Given the description of an element on the screen output the (x, y) to click on. 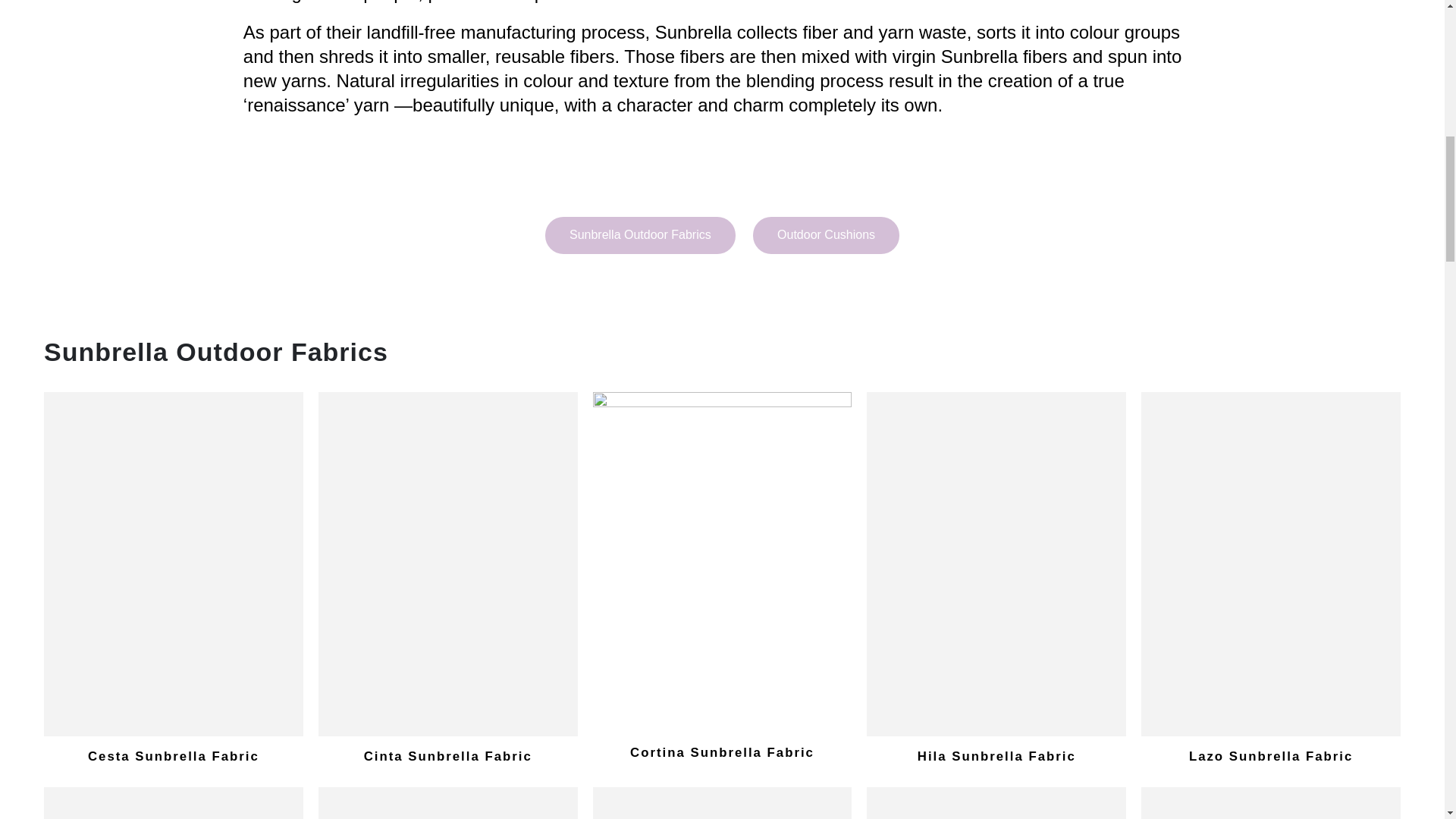
Sunbrella Outdoor Fabrics (639, 235)
Outdoor Cushions (825, 235)
Outdoor Cushions (825, 235)
Sunbrella Outdoor Fabrics (639, 235)
